Given the description of an element on the screen output the (x, y) to click on. 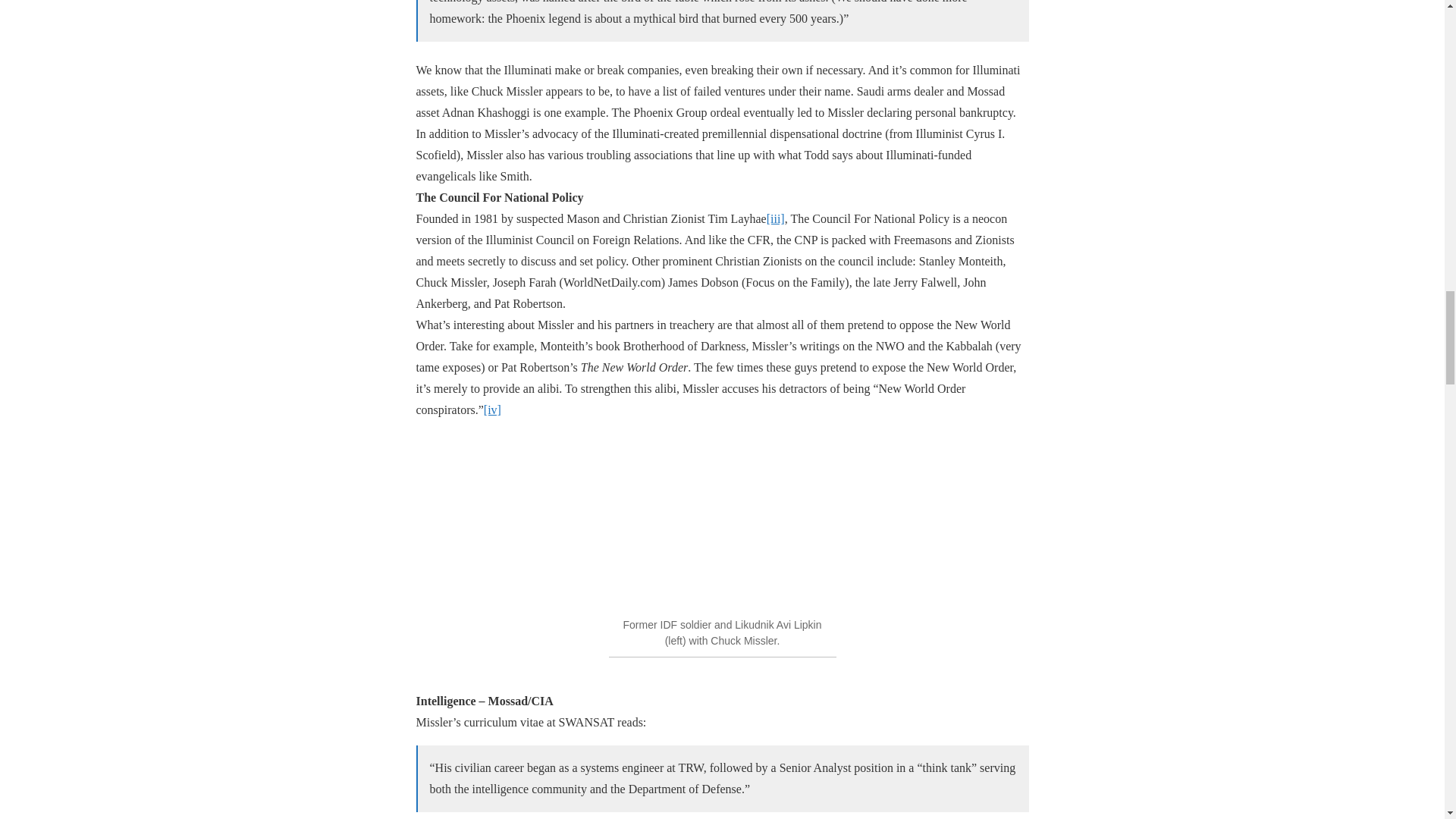
avi-lipkin-chuck-missler (721, 518)
